Given the description of an element on the screen output the (x, y) to click on. 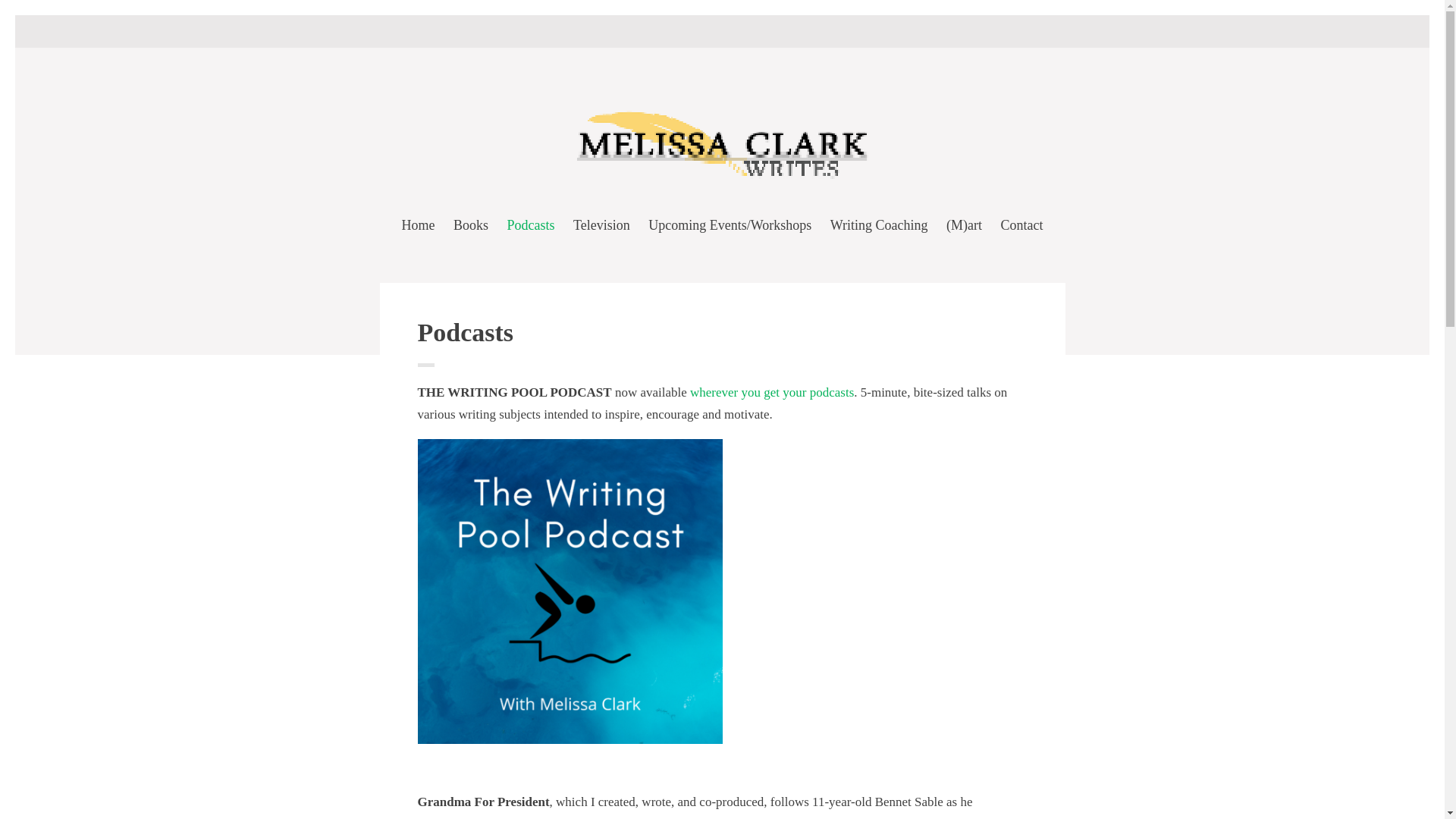
Books (469, 226)
Contact (1022, 226)
Writing Coaching (878, 226)
Podcasts (530, 226)
Television (601, 226)
Melissa Clark Writes 404 (721, 178)
instagram (722, 30)
Twitter (698, 30)
Good Reads (746, 30)
Home (417, 226)
wherever you get your podcasts (771, 391)
